Given the description of an element on the screen output the (x, y) to click on. 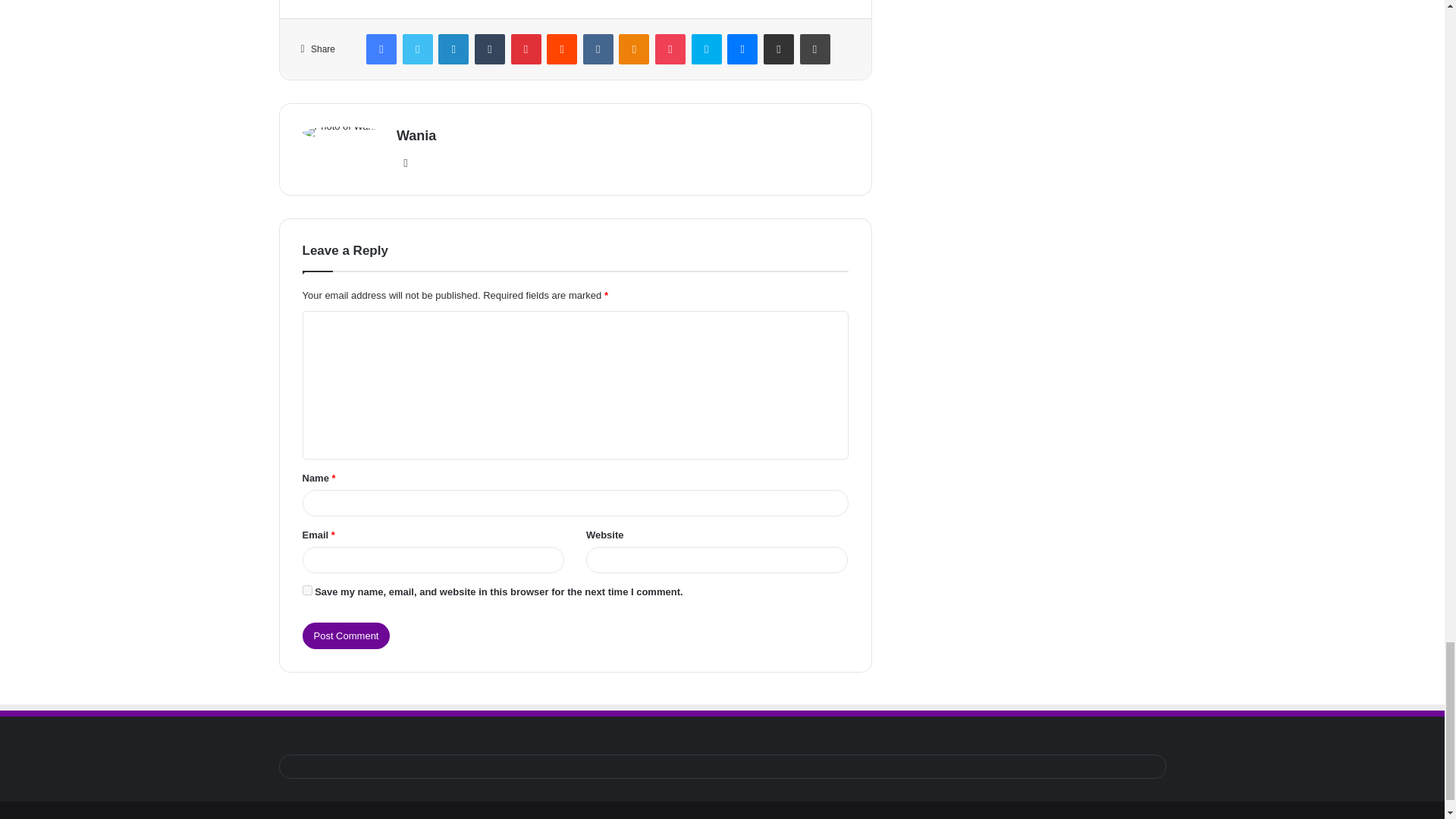
Messenger (741, 49)
Skype (706, 49)
VKontakte (597, 49)
Facebook (381, 49)
Reddit (561, 49)
Pinterest (526, 49)
Twitter (417, 49)
Post Comment (345, 635)
Tumblr (489, 49)
yes (306, 590)
Odnoklassniki (633, 49)
Pocket (670, 49)
LinkedIn (453, 49)
